Given the description of an element on the screen output the (x, y) to click on. 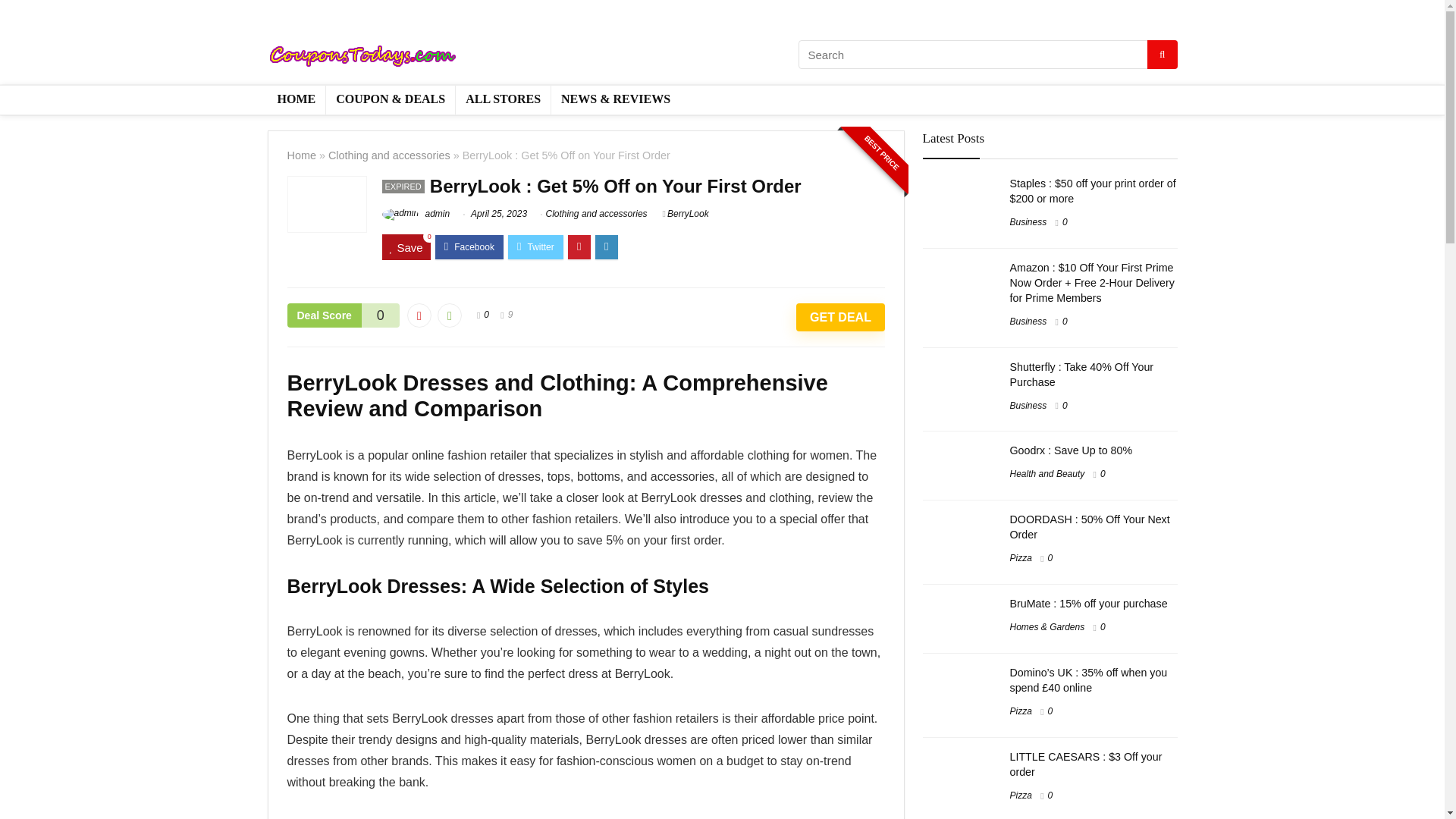
BerryLook (685, 213)
0 (486, 314)
admin (415, 213)
ALL STORES (502, 99)
Vote down (418, 315)
View all posts in Clothing and accessories (596, 213)
Vote up (449, 315)
Clothing and accessories (596, 213)
Home (300, 155)
GET DEAL (839, 317)
Clothing and accessories (389, 155)
HOME (295, 99)
